Given the description of an element on the screen output the (x, y) to click on. 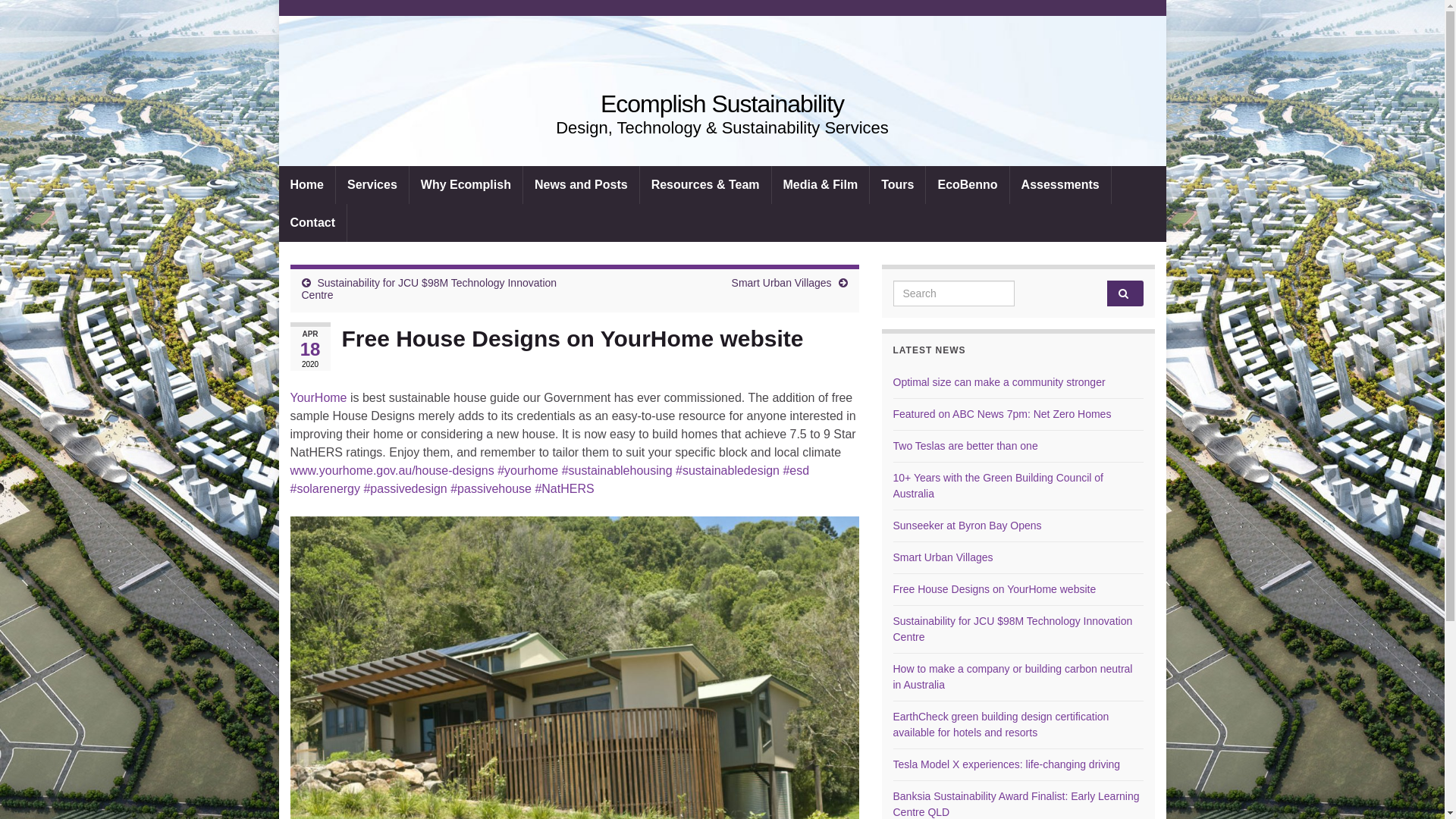
Free House Designs on YourHome website Element type: text (994, 589)
Resources & Team Element type: text (705, 184)
Optimal size can make a community stronger Element type: text (999, 382)
Contact Element type: text (313, 222)
10+ Years with the Green Building Council of Australia Element type: text (998, 485)
Tours Element type: text (897, 184)
#NatHERS Element type: text (563, 488)
#yourhome Element type: text (527, 470)
#passivedesign Element type: text (404, 488)
www.yourhome.gov.au/house-designs Element type: text (391, 470)
#solarenergy Element type: text (324, 488)
Assessments Element type: text (1060, 184)
Two Teslas are better than one Element type: text (965, 445)
#esd Element type: text (795, 470)
Sustainability for JCU $98M Technology Innovation Centre Element type: text (1012, 629)
Services Element type: text (371, 184)
Why Ecomplish Element type: text (465, 184)
#passivehouse Element type: text (490, 488)
Tesla Model X experiences: life-changing driving Element type: text (1006, 764)
News and Posts Element type: text (581, 184)
EcoBenno Element type: text (966, 184)
#sustainablehousing Element type: text (616, 470)
Smart Urban Villages Element type: text (781, 282)
Media & Film Element type: text (820, 184)
Sunseeker at Byron Bay Opens Element type: text (967, 525)
Smart Urban Villages Element type: text (943, 557)
Home Element type: text (307, 184)
YourHome Element type: text (319, 397)
Ecomplish Sustainability Element type: hover (722, 106)
Ecomplish Sustainability Element type: text (722, 103)
Sustainability for JCU $98M Technology Innovation Centre Element type: text (429, 288)
Featured on ABC News 7pm: Net Zero Homes Element type: text (1002, 413)
#sustainabledesign Element type: text (727, 470)
